Given the description of an element on the screen output the (x, y) to click on. 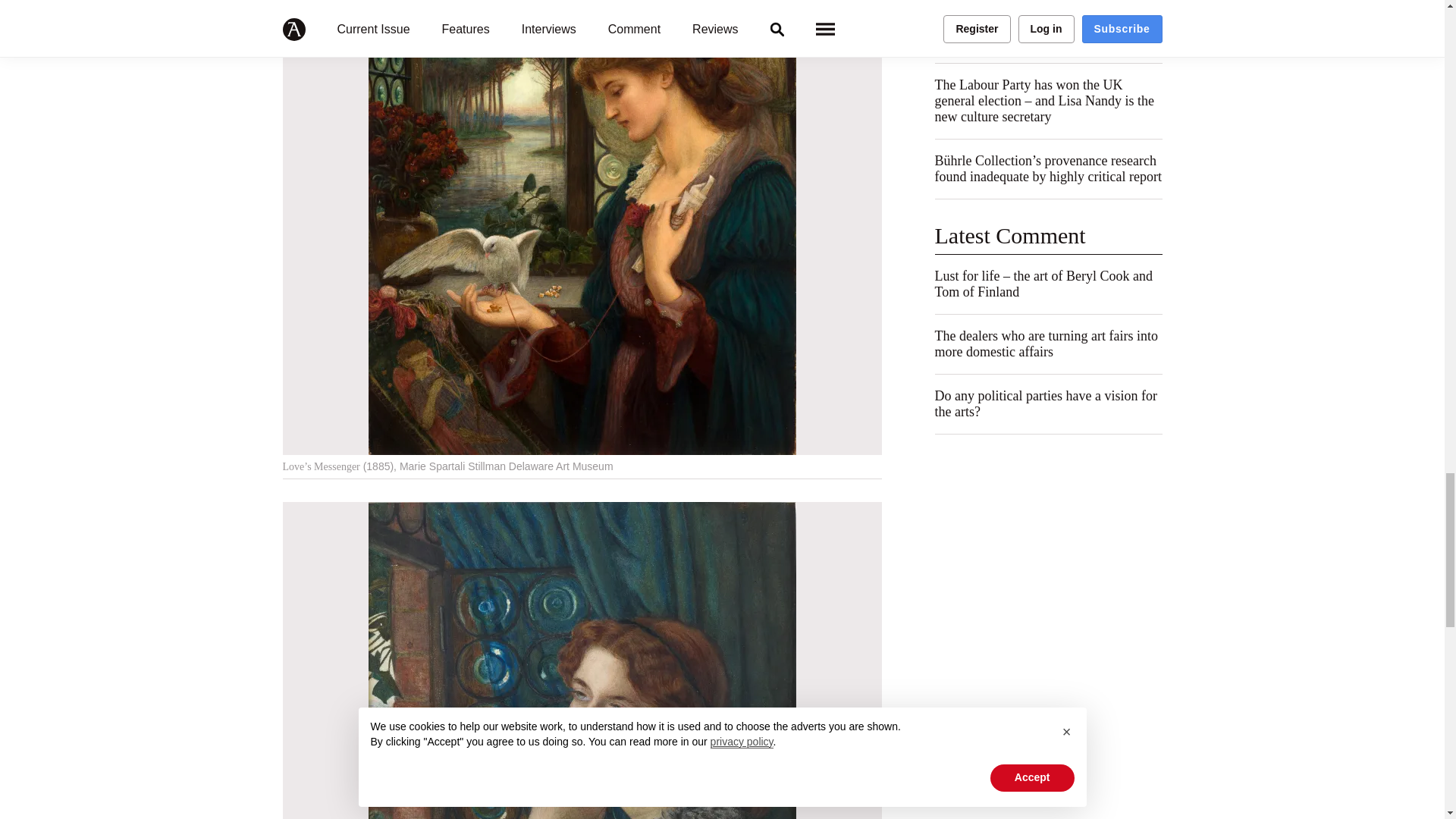
3rd party ad content (1047, 552)
